Given the description of an element on the screen output the (x, y) to click on. 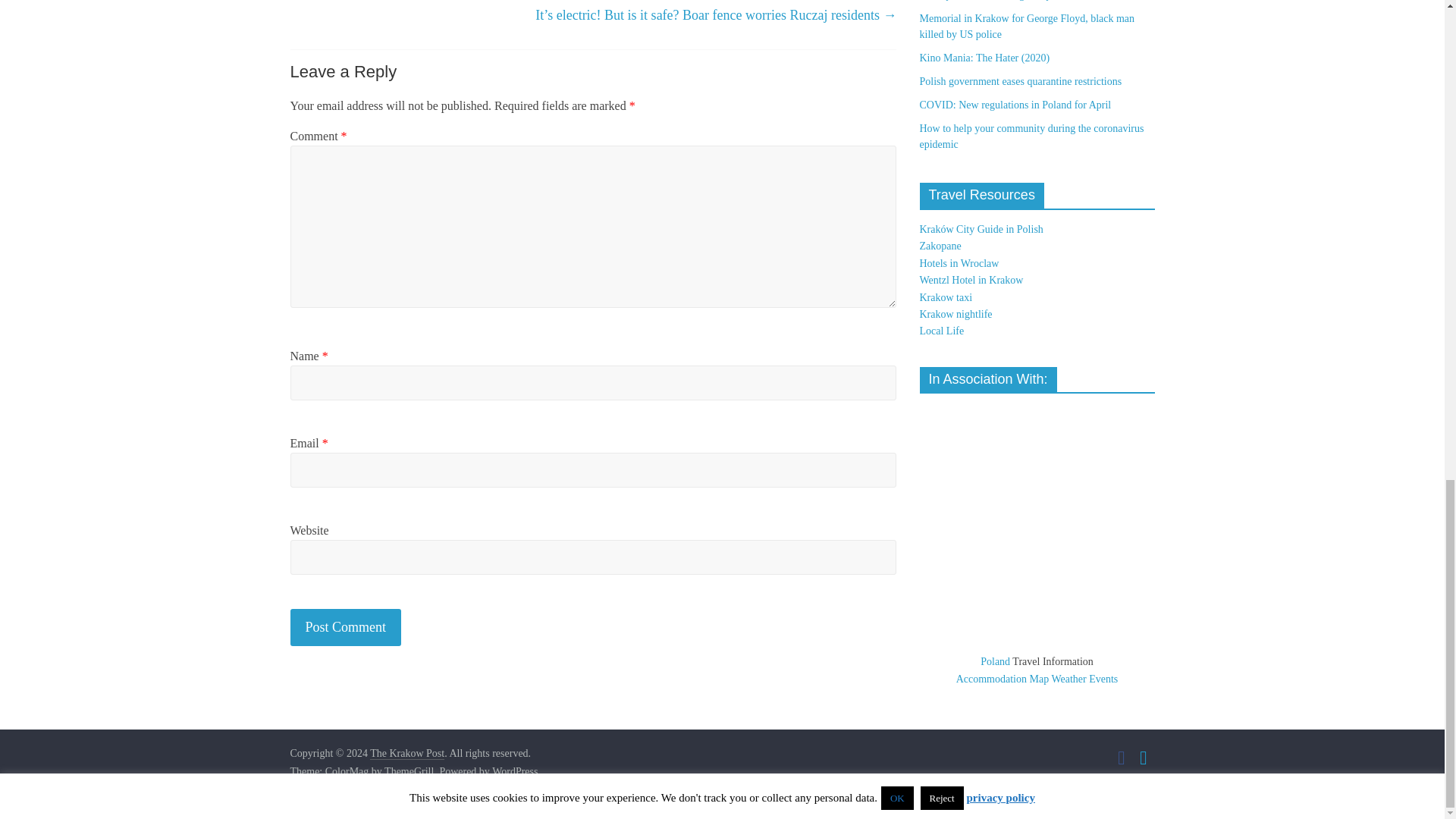
The Krakow Post (406, 753)
Post Comment (345, 627)
WordPress (514, 771)
ColorMag (346, 771)
